Given the description of an element on the screen output the (x, y) to click on. 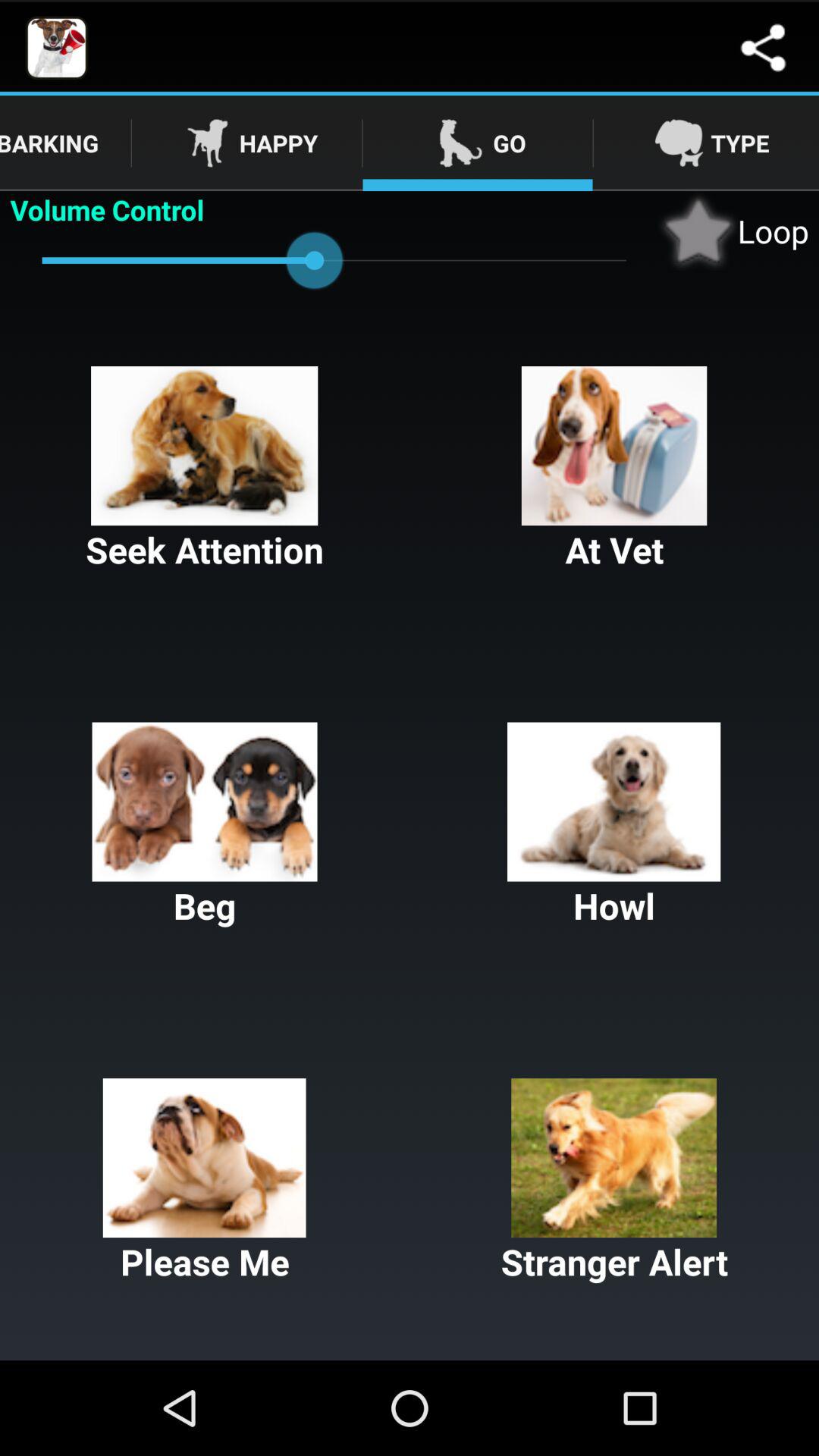
turn on the beg on the left (204, 825)
